Given the description of an element on the screen output the (x, y) to click on. 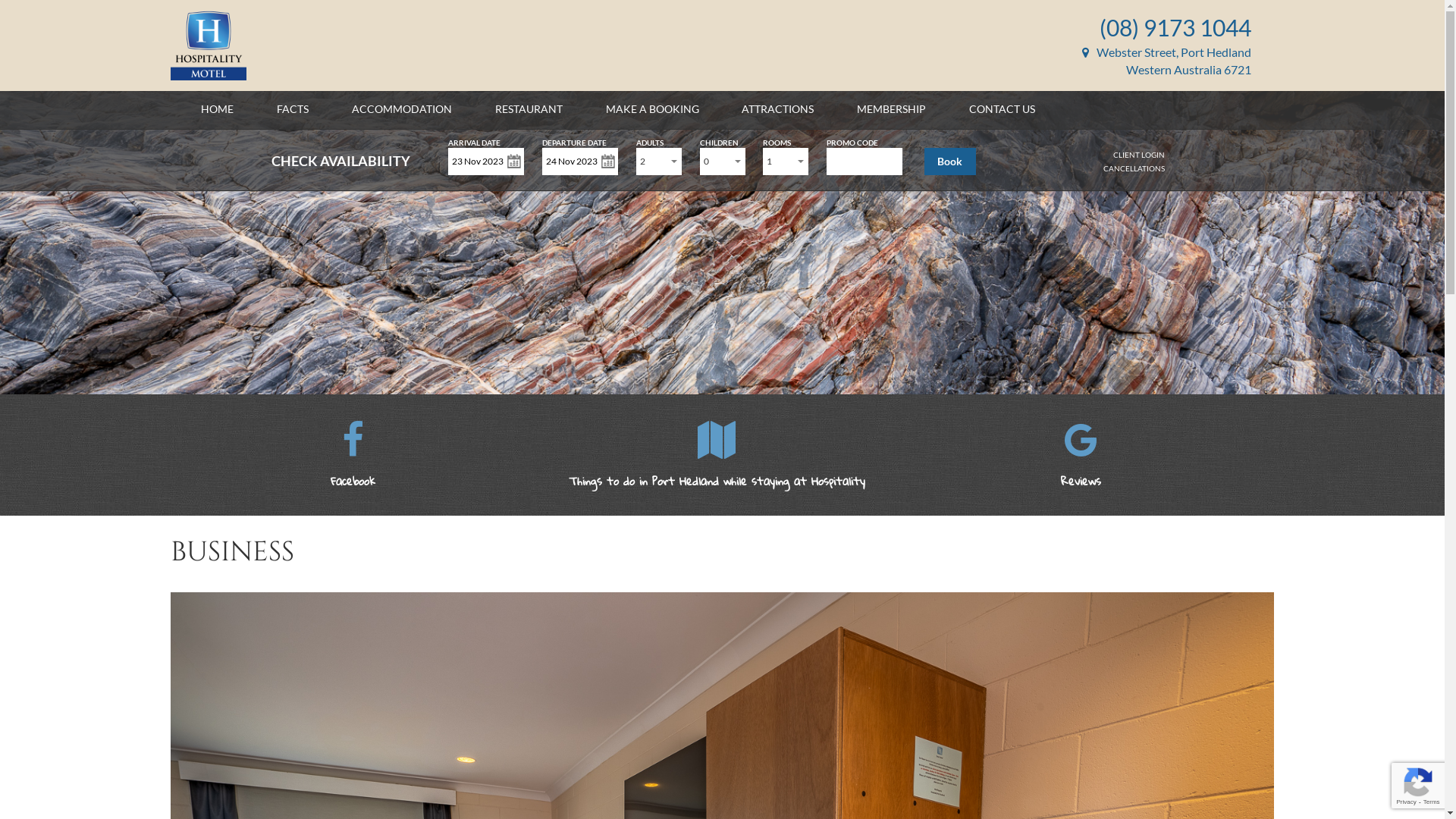
Reviews Element type: text (1080, 496)
RESTAURANT Element type: text (528, 109)
Facebook Element type: text (352, 465)
ATTRACTIONS Element type: text (777, 109)
Webster Street, Port Hedland
Western Australia 6721 Element type: text (1166, 60)
Things to do in Port Hedland while staying at Hospitality Element type: text (716, 465)
CLIENT LOGIN Element type: text (1138, 154)
(08) 9173 1044 Element type: text (1175, 26)
MAKE A BOOKING Element type: text (652, 109)
HOME Element type: text (216, 109)
Book Element type: text (949, 161)
CANCELLATIONS Element type: text (1133, 167)
ACCOMMODATION Element type: text (401, 109)
MEMBERSHIP Element type: text (890, 109)
CONTACT US Element type: text (1002, 109)
FACTS Element type: text (292, 109)
